Given the description of an element on the screen output the (x, y) to click on. 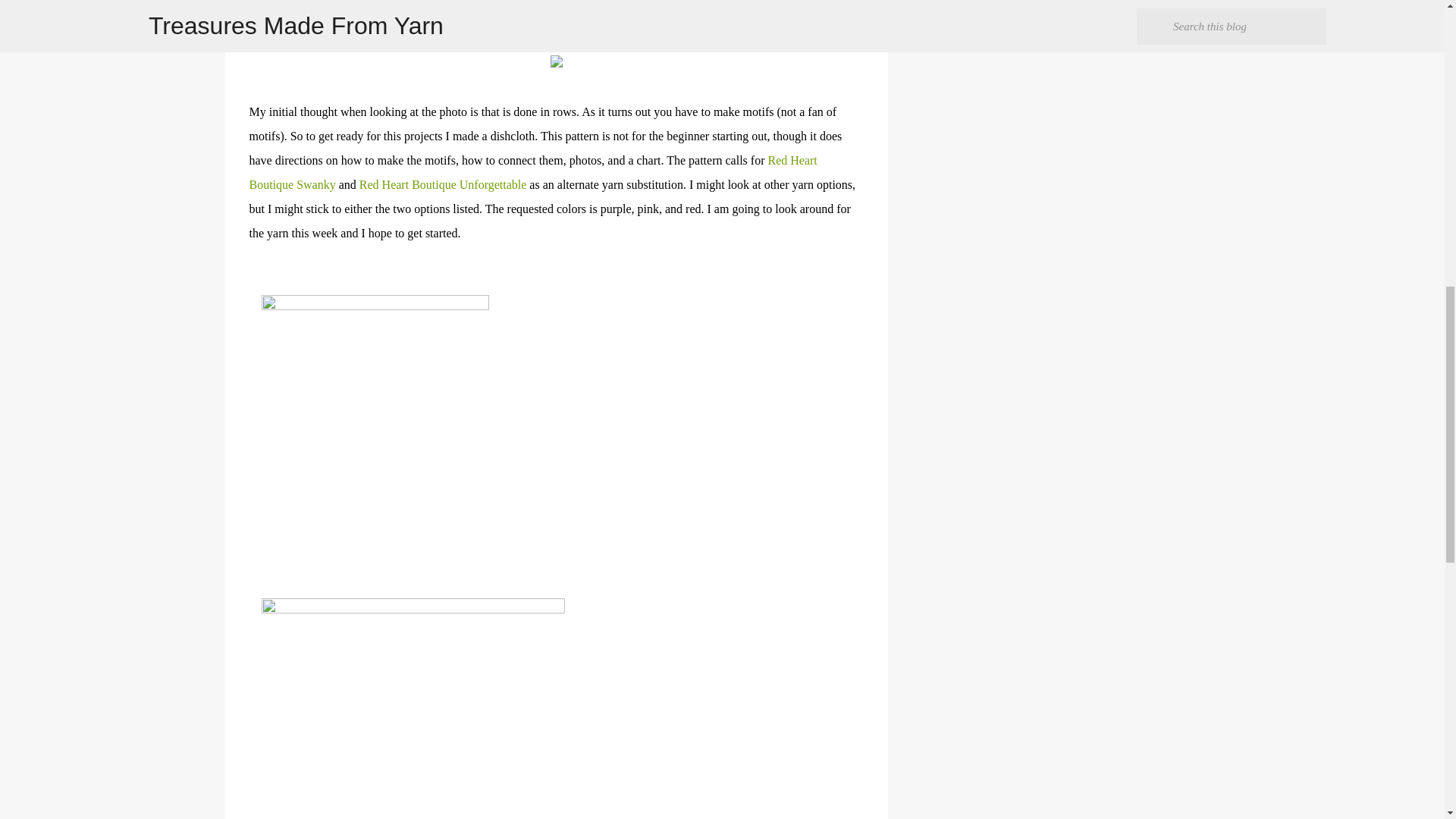
Red Heart Boutique Unforgettable (443, 184)
Mermaid Me Blanket by Susan Carlson. (530, 38)
Red Heart Boutique Swanky (532, 171)
